Given the description of an element on the screen output the (x, y) to click on. 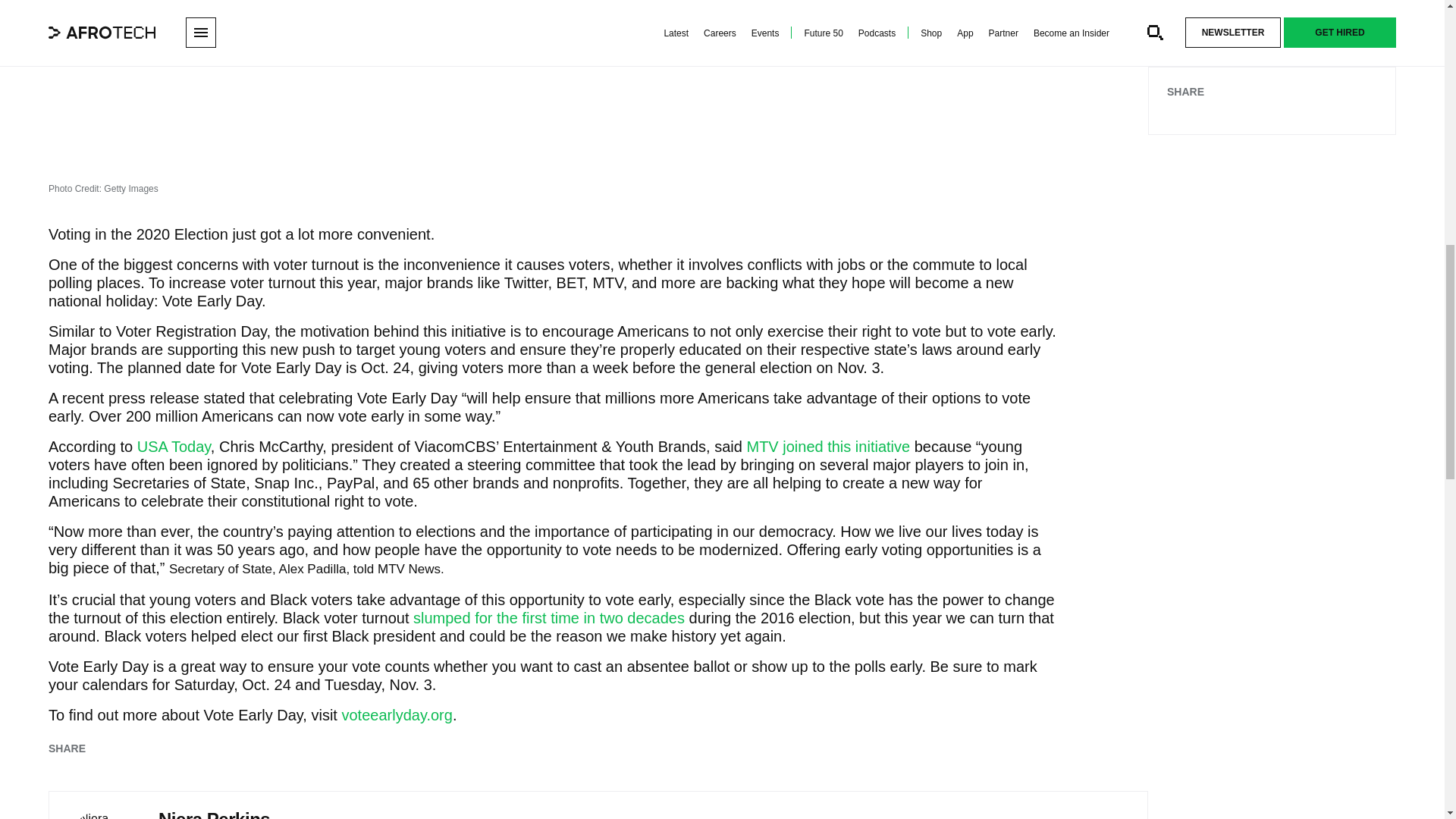
Njera Perkins (213, 814)
USA Today (173, 446)
Njera Perkins (102, 814)
voteearlyday.org (395, 714)
MTV joined this initiative (827, 446)
slumped for the first time in two decades (548, 617)
